Given the description of an element on the screen output the (x, y) to click on. 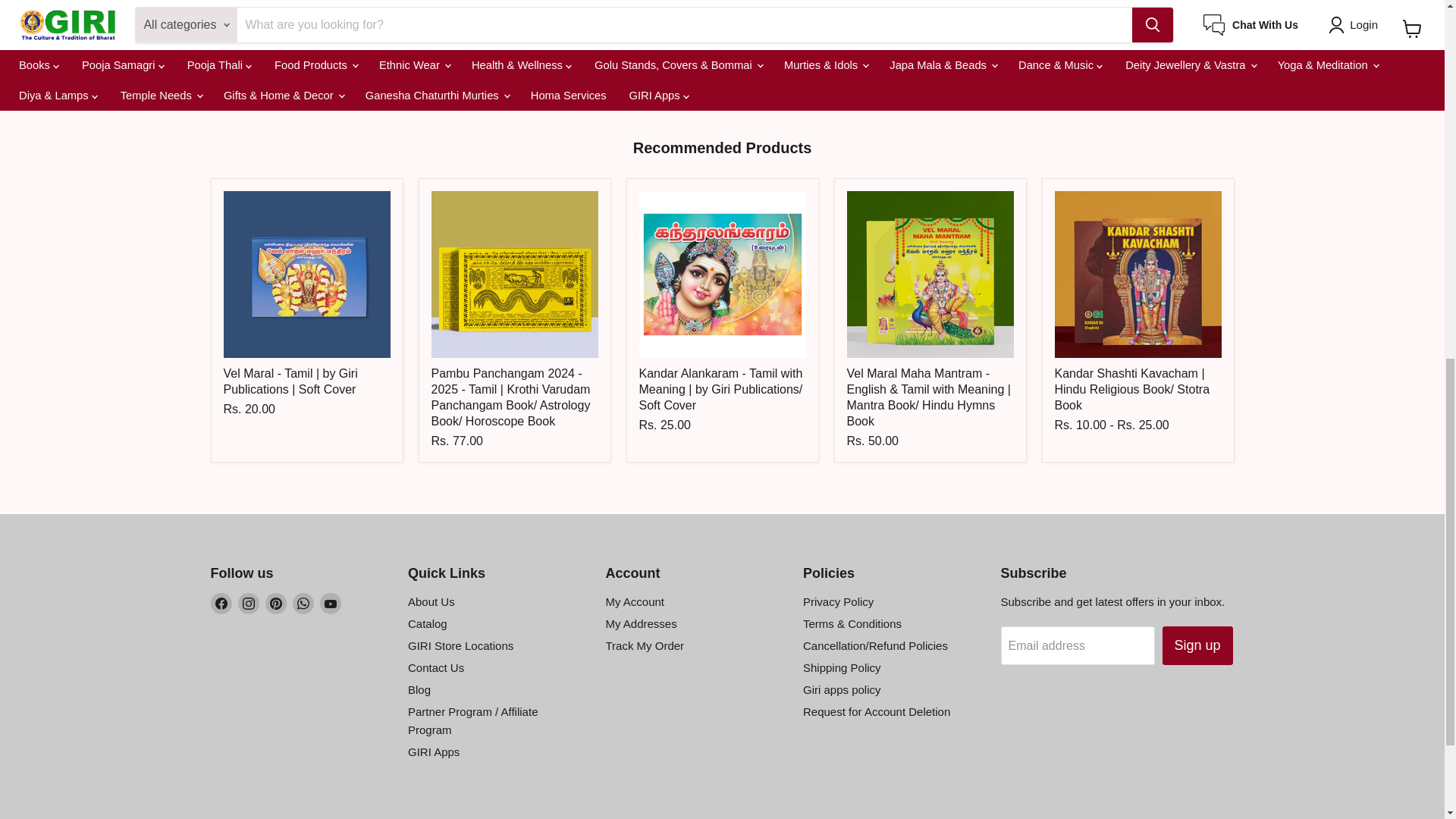
Instagram (248, 603)
YouTube (330, 603)
Facebook (221, 603)
WhatsApp (303, 603)
Pinterest (275, 603)
